Given the description of an element on the screen output the (x, y) to click on. 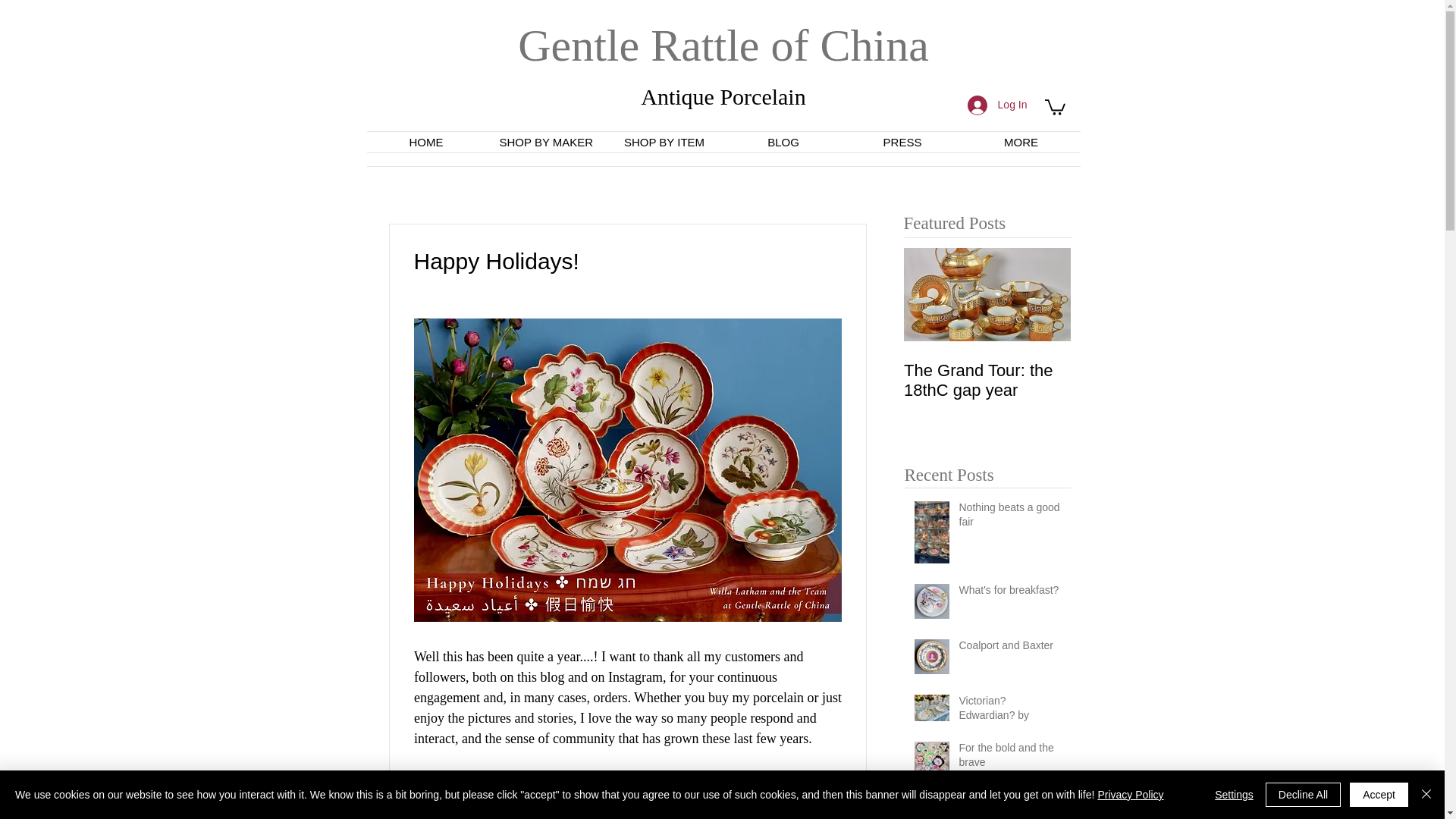
Log In (997, 104)
Antique Porcelain (722, 96)
SHOP BY MAKER (544, 141)
Gentle Rattle of China (723, 45)
HOME (426, 141)
